Given the description of an element on the screen output the (x, y) to click on. 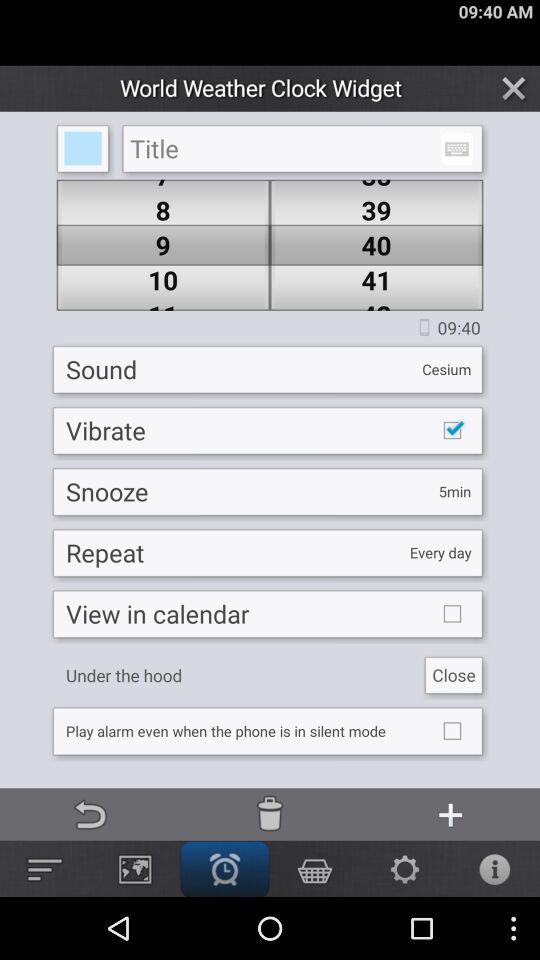
enter title (302, 148)
